Given the description of an element on the screen output the (x, y) to click on. 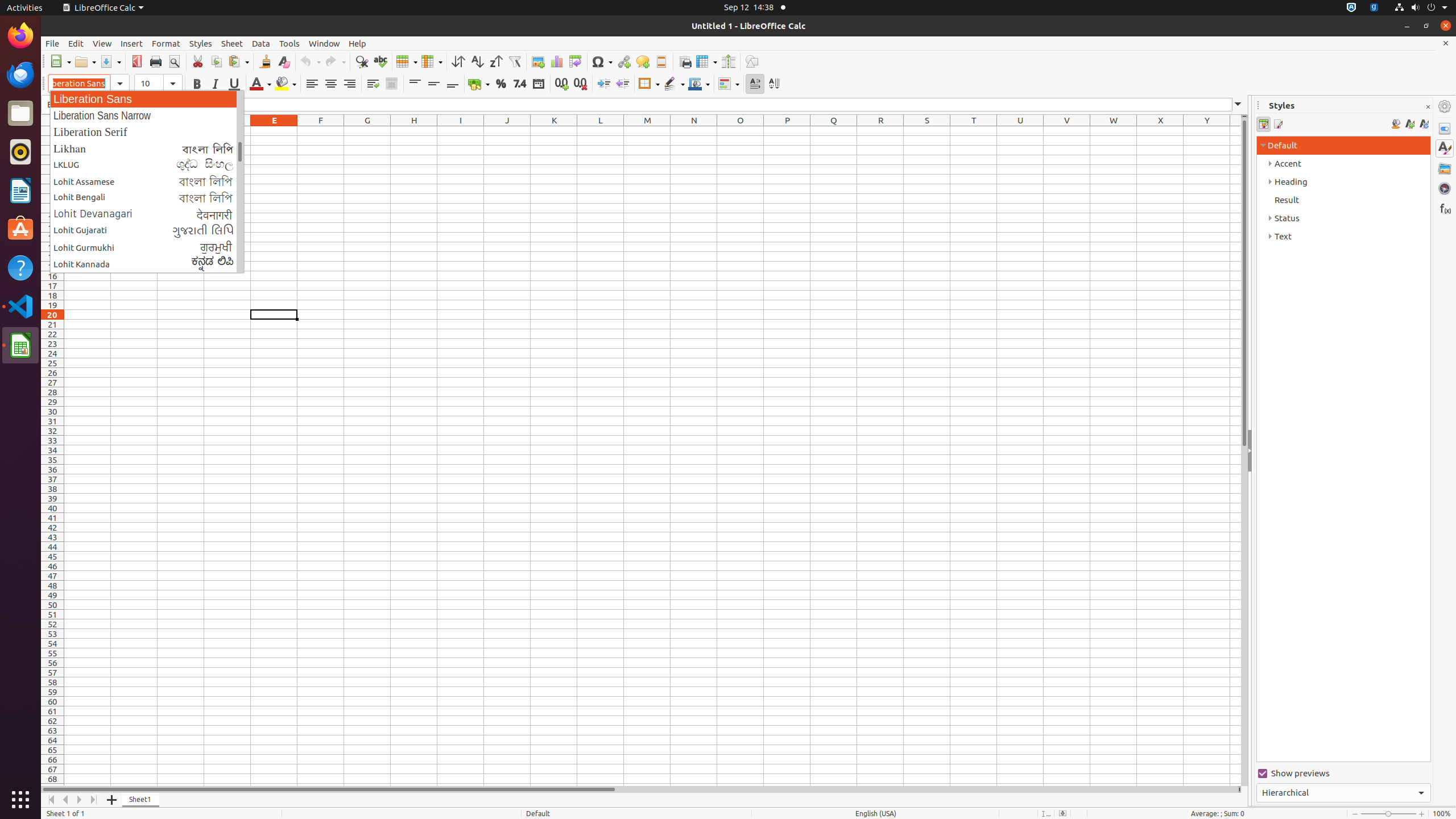
Move Left Element type: push-button (65, 799)
Rhythmbox Element type: push-button (20, 151)
Print Preview Element type: toggle-button (173, 61)
LKLUG Element type: list-item (146, 164)
Date Element type: push-button (537, 83)
